Given the description of an element on the screen output the (x, y) to click on. 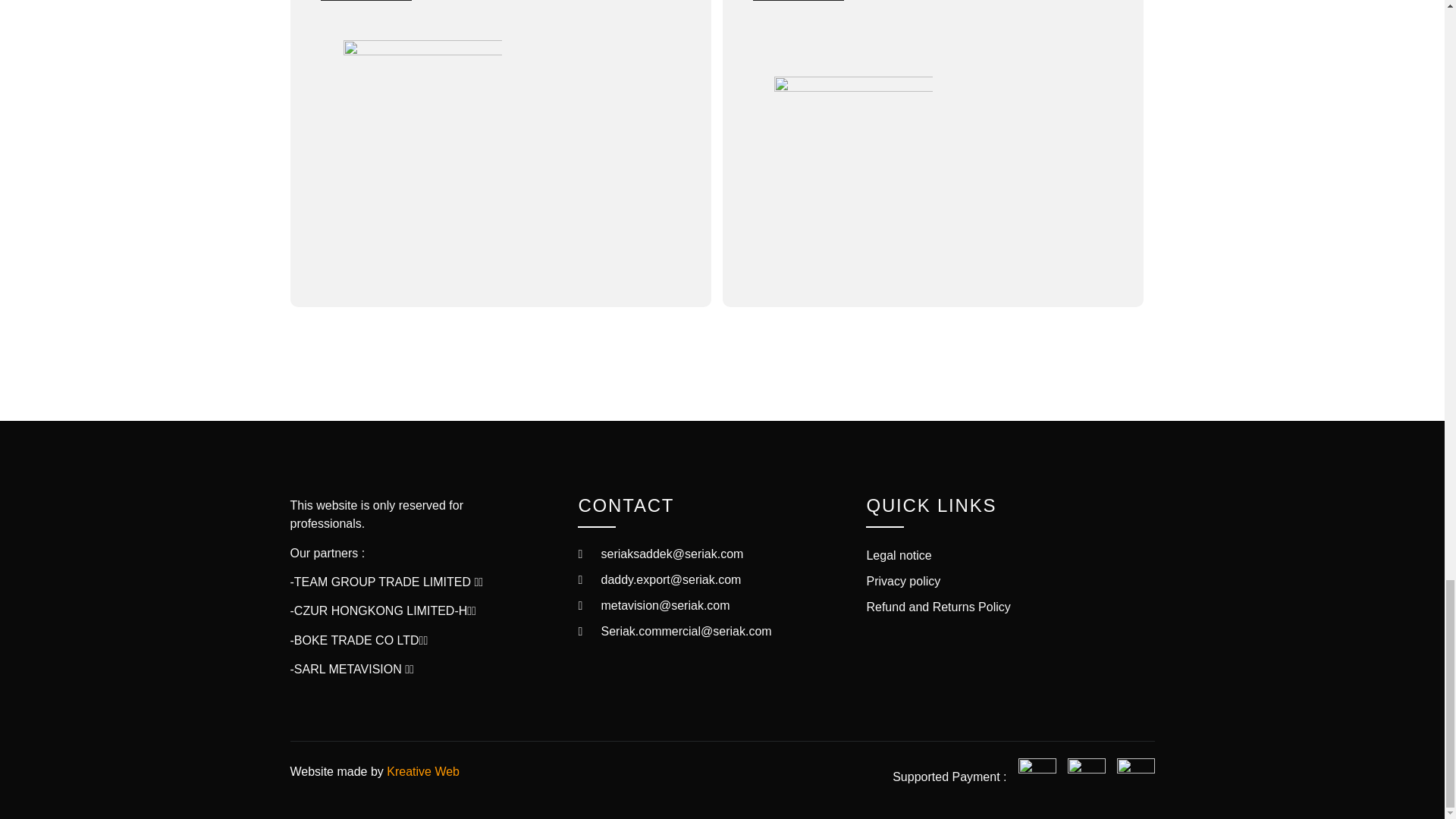
Refund and Returns Policy (1010, 607)
Kreative Web (423, 771)
Legal notice (1010, 556)
Privacy policy (1010, 581)
